Given the description of an element on the screen output the (x, y) to click on. 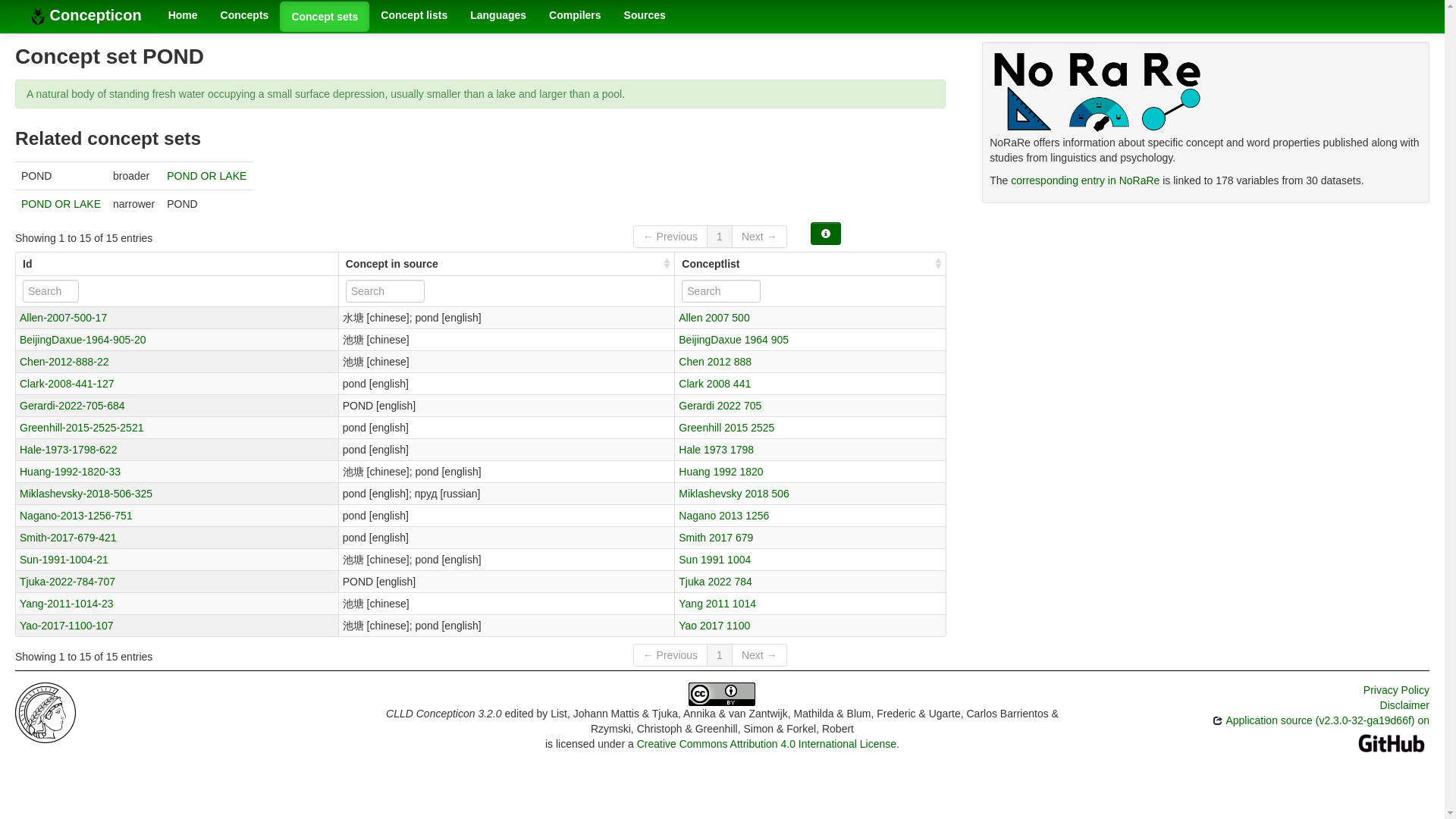
Sources (644, 15)
Sun-1991-1004-21 (63, 559)
Miklashevsky-2018-506-325 (86, 492)
Concept sets (324, 16)
Sources (644, 15)
Compilers (574, 15)
Clark 2008 441 (714, 383)
Chen-2012-888-22 (64, 360)
Greenhill 2015 2525 (726, 427)
Huang-1992-1820-33 (70, 471)
